Given the description of an element on the screen output the (x, y) to click on. 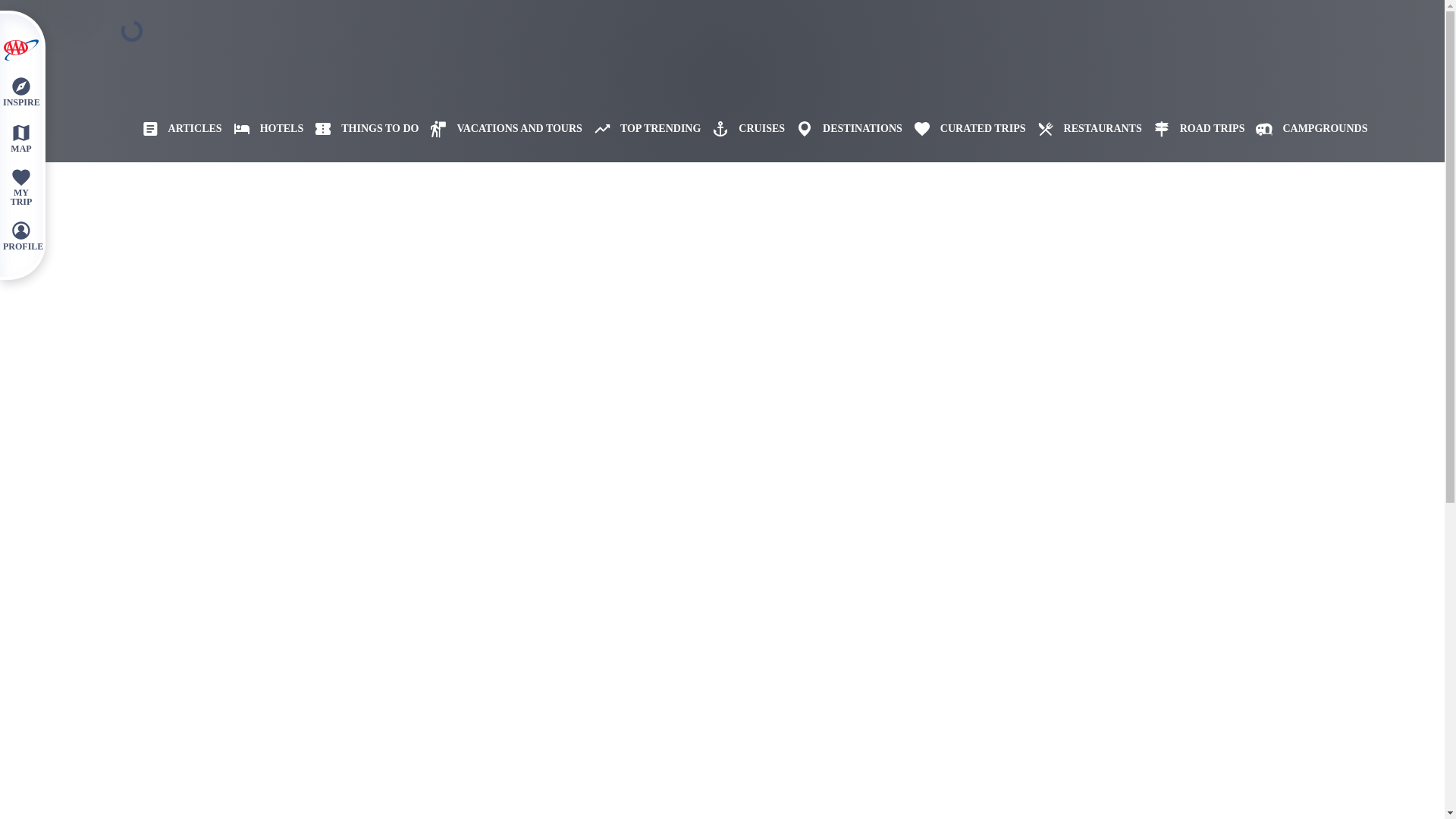
TOP TRENDING (641, 128)
THINGS TO DO (360, 128)
DESTINATIONS (843, 128)
VACATIONS AND TOURS (499, 128)
RESTAURANTS (1083, 128)
CAMPGROUNDS (1305, 128)
HOTELS (263, 128)
PROFILE (20, 235)
ARTICLES (176, 128)
ROAD TRIPS (1192, 128)
INSPIRE (20, 91)
CURATED TRIPS (964, 128)
MAP (20, 137)
OPEN CLUB MENU (20, 49)
MY TRIP (20, 186)
